Given the description of an element on the screen output the (x, y) to click on. 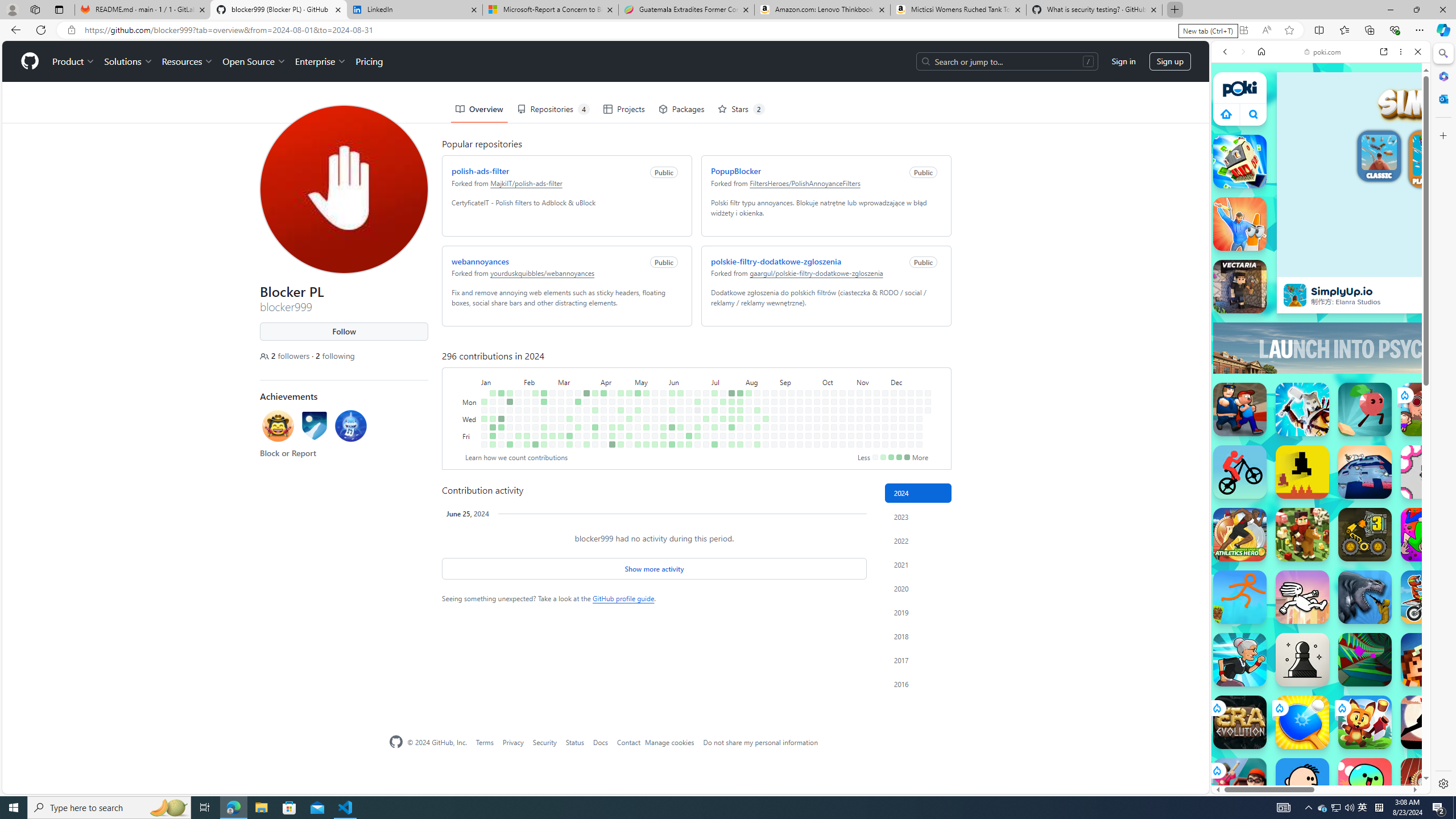
8 contributions on February 17th. (535, 444)
No contributions on November 7th. (859, 427)
No contributions on September 7th. (783, 444)
No contributions on June 17th. (688, 401)
IMAGES (1262, 130)
No contributions on August 1st. (740, 427)
No contributions on June 26th. (697, 418)
No contributions on March 19th. (577, 410)
Repositories 4 (553, 108)
Product (74, 60)
No contributions on June 23rd. (697, 392)
No contributions on October 1st. (816, 410)
No contributions on November 25th. (885, 401)
Pricing (368, 60)
